Given the description of an element on the screen output the (x, y) to click on. 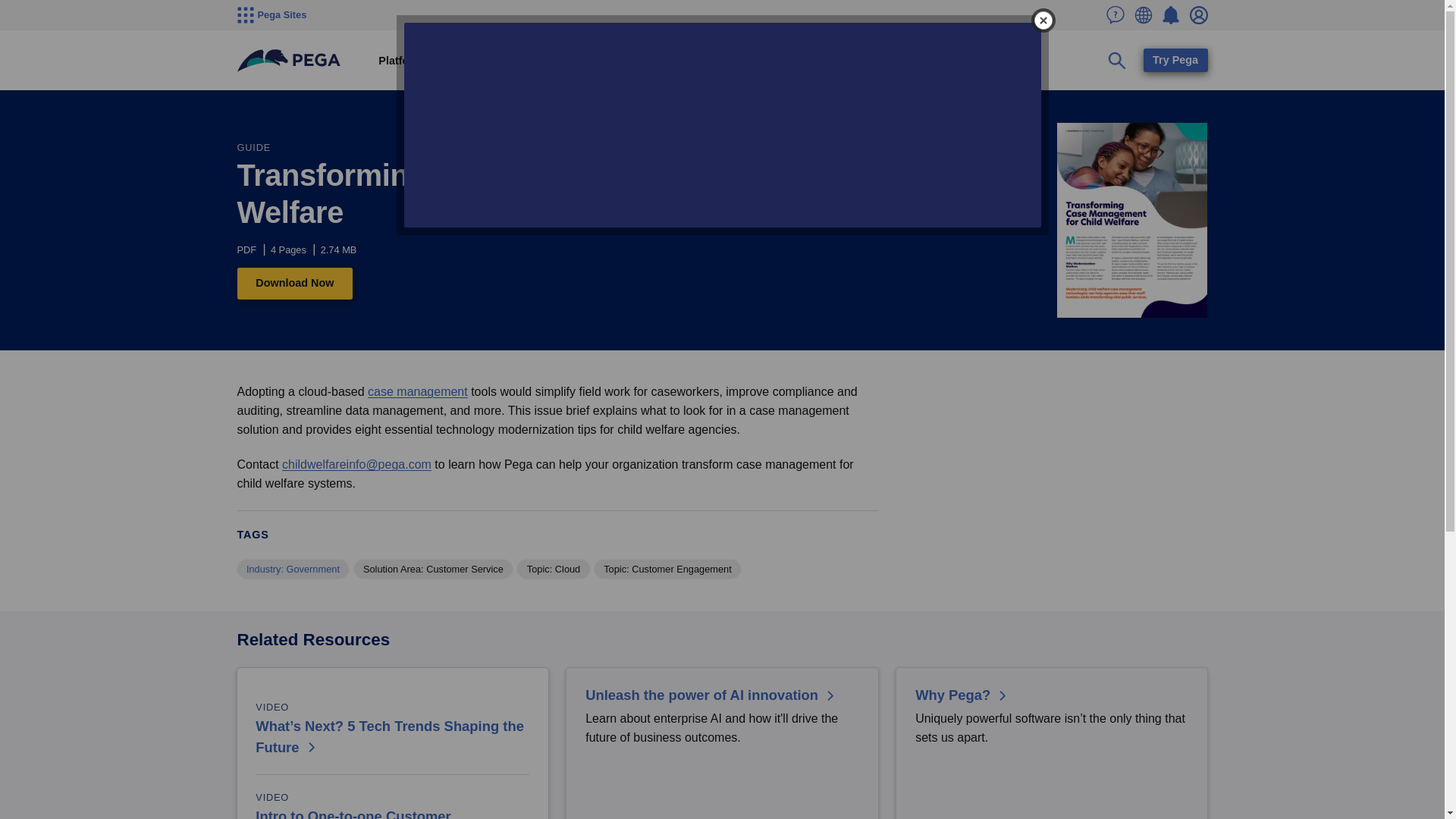
Toggle Search Panel (1117, 60)
Solutions (466, 60)
Platform (400, 60)
